Given the description of an element on the screen output the (x, y) to click on. 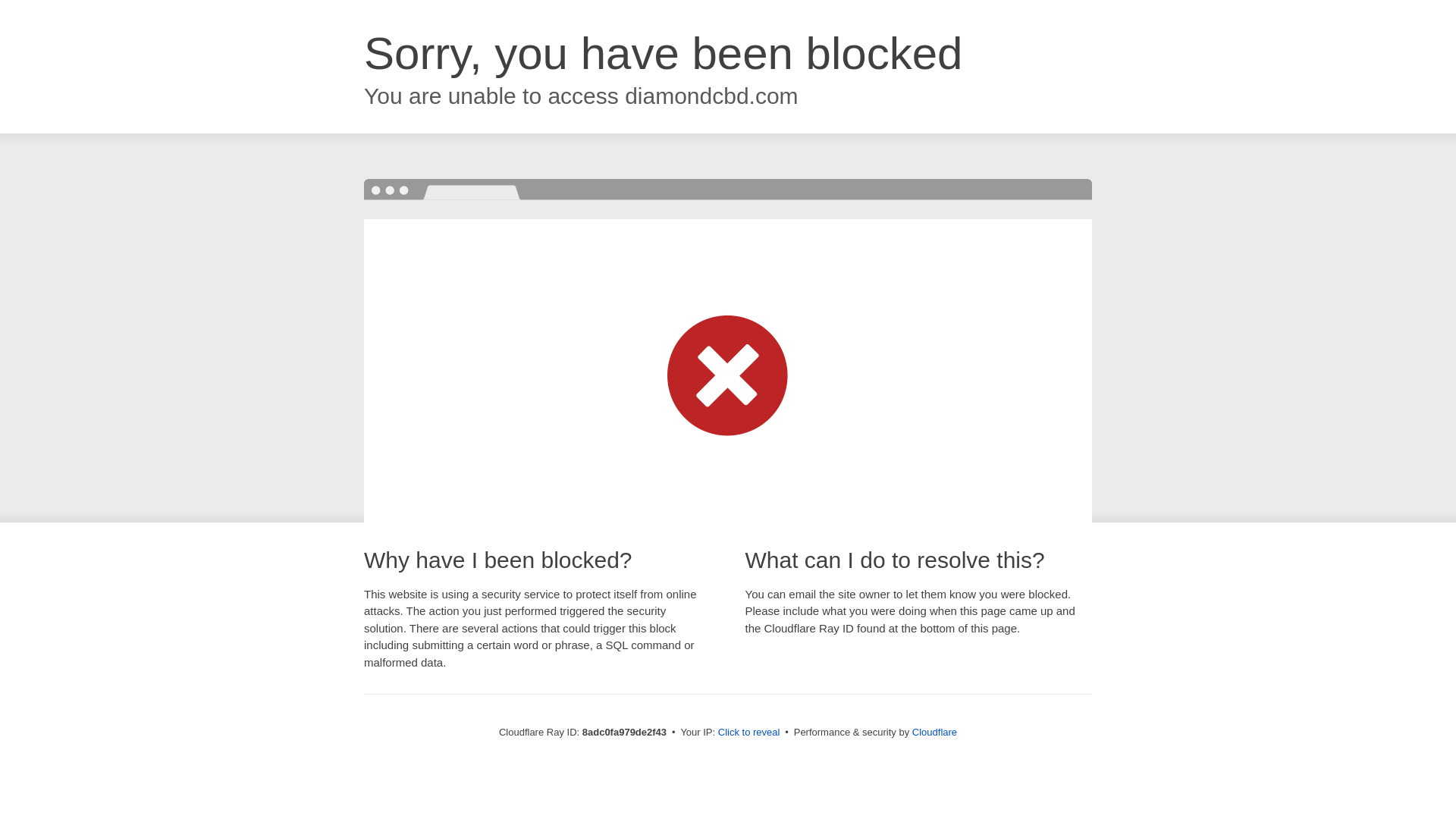
Cloudflare (934, 731)
Click to reveal (748, 732)
